Given the description of an element on the screen output the (x, y) to click on. 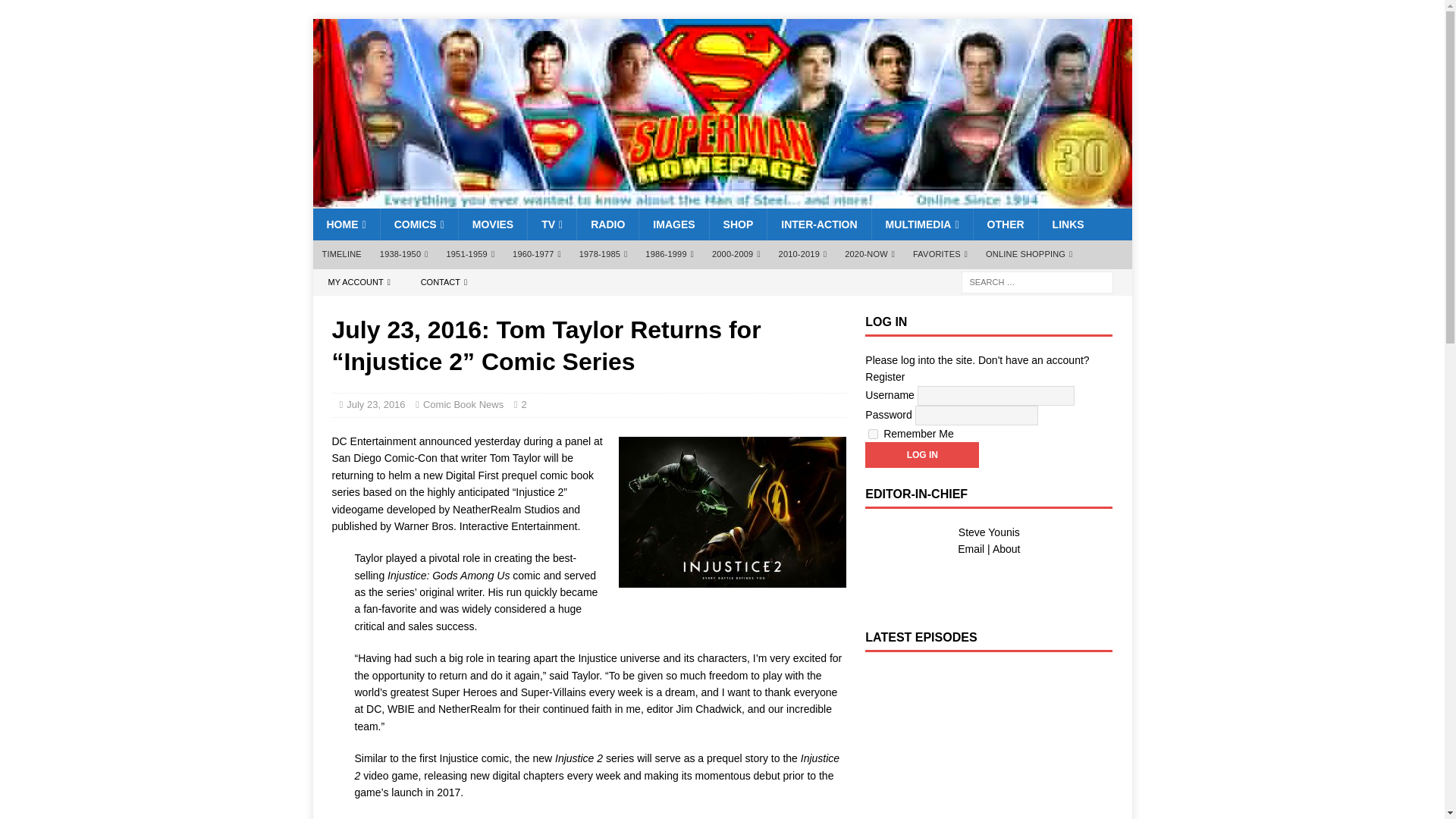
INTER-ACTION (818, 224)
1951-1959 (469, 254)
OTHER (1005, 224)
1960-1977 (536, 254)
forever (872, 433)
1938-1950 (404, 254)
TV (551, 224)
RADIO (607, 224)
1986-1999 (669, 254)
Superman Homepage (722, 200)
1978-1985 (603, 254)
LINKS (1067, 224)
MOVIES (492, 224)
IMAGES (673, 224)
COMICS (419, 224)
